Given the description of an element on the screen output the (x, y) to click on. 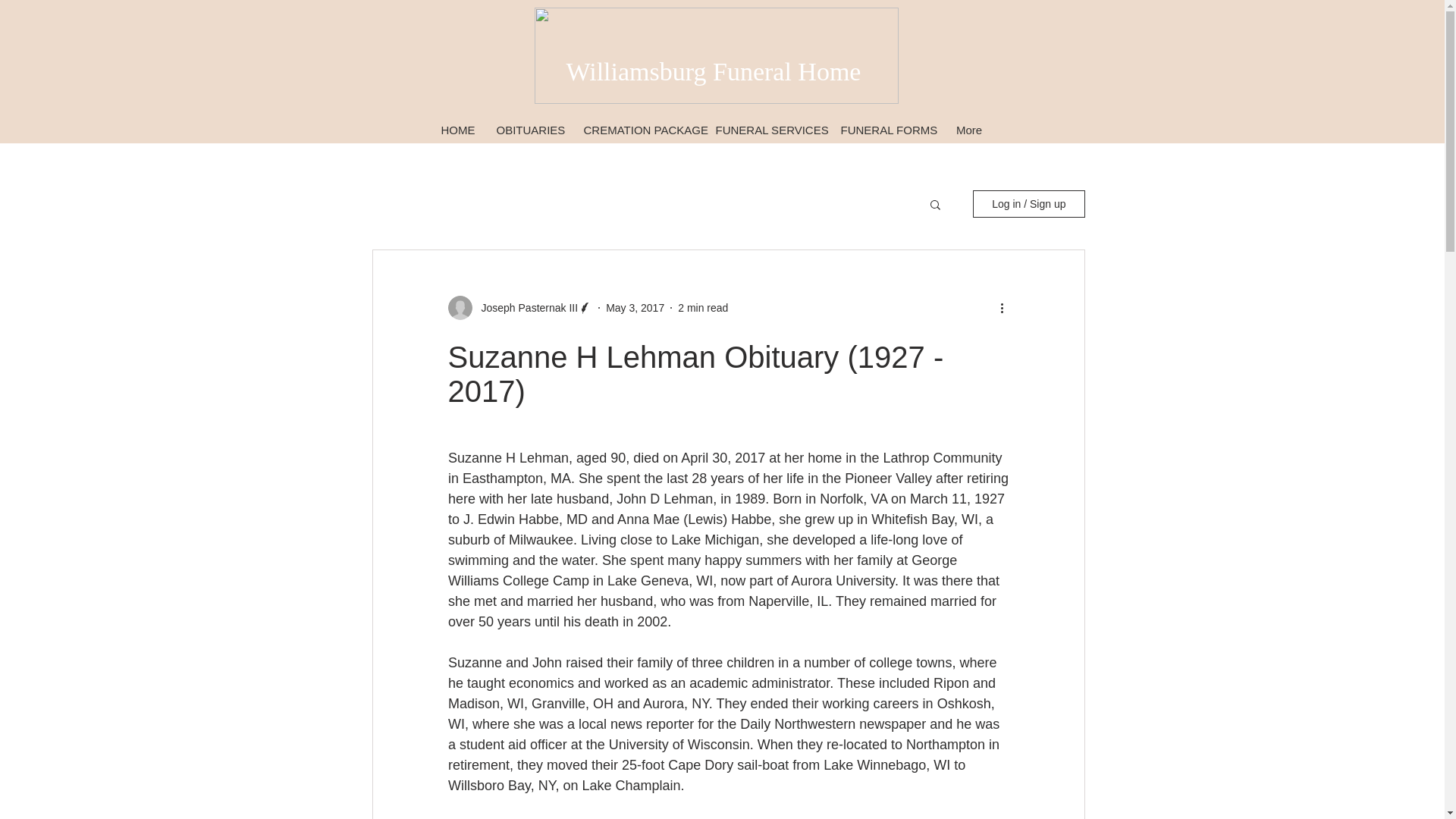
OBITUARIES (529, 129)
FUNERAL FORMS (887, 129)
2 min read (703, 307)
May 3, 2017 (634, 307)
CREMATION PACKAGE (638, 129)
FUNERAL SERVICES (766, 129)
HOME (457, 129)
Joseph Pasternak III (524, 308)
